Given the description of an element on the screen output the (x, y) to click on. 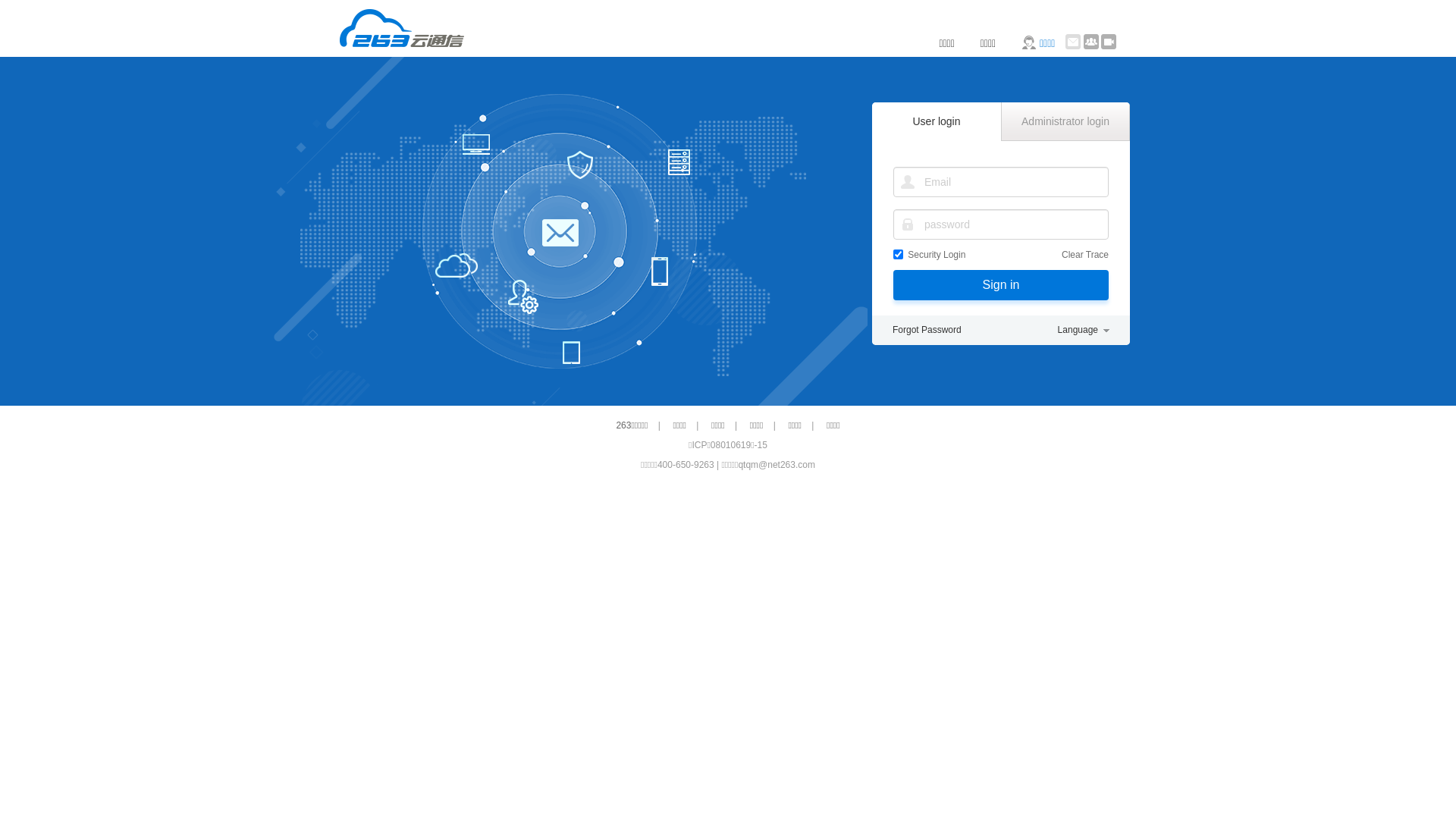
Language Element type: text (1083, 330)
Forgot Password Element type: text (926, 330)
User login Element type: text (936, 121)
Administrator login Element type: text (1065, 121)
